Given the description of an element on the screen output the (x, y) to click on. 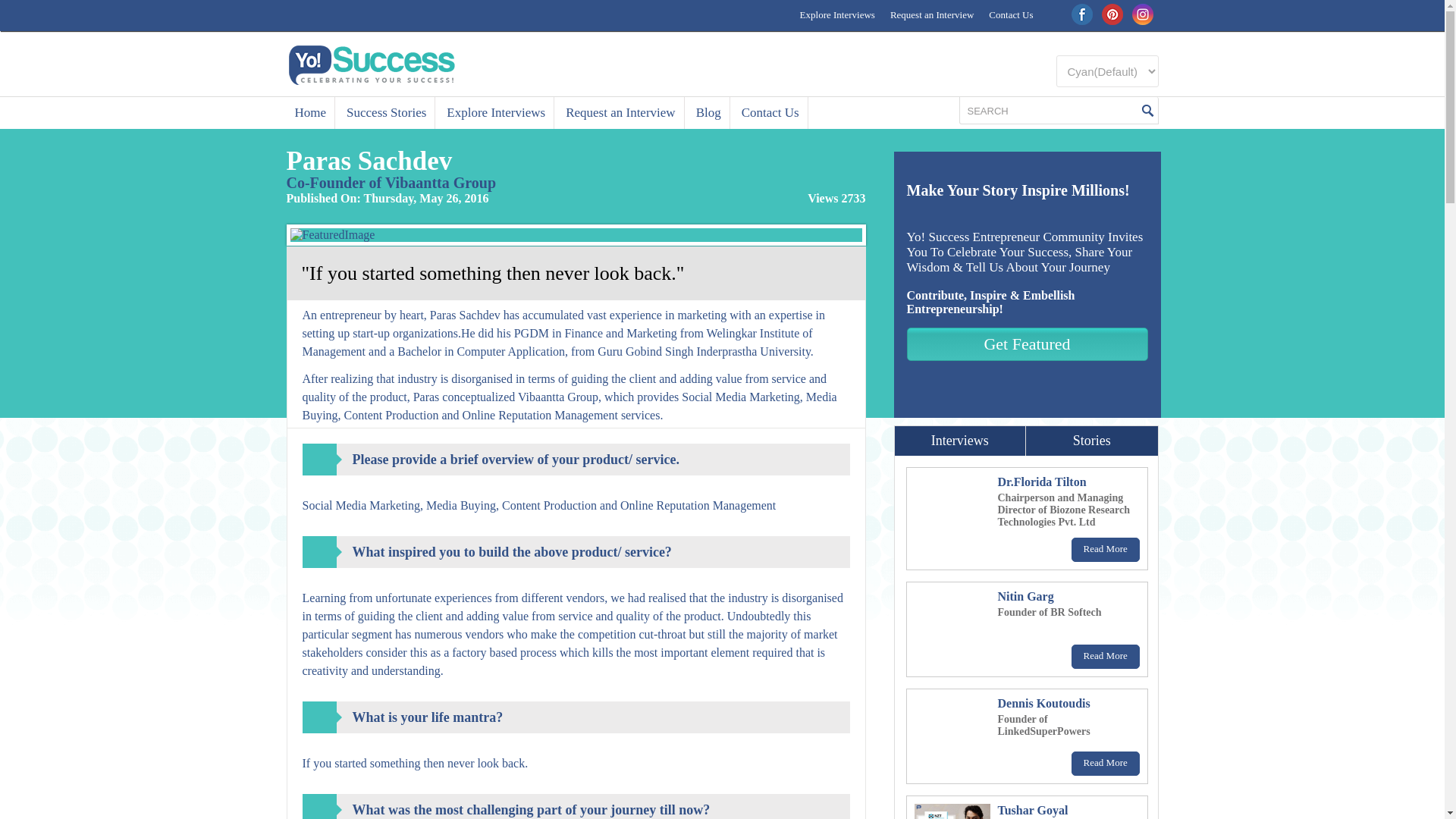
Explore Interviews (837, 15)
Contact Us (770, 112)
Recent (1091, 440)
SEARCH (1048, 110)
Home (311, 112)
Explore Interviews (496, 112)
Success Stories (386, 112)
Popular (960, 440)
Contact Us (1011, 15)
Blog (708, 112)
